Given the description of an element on the screen output the (x, y) to click on. 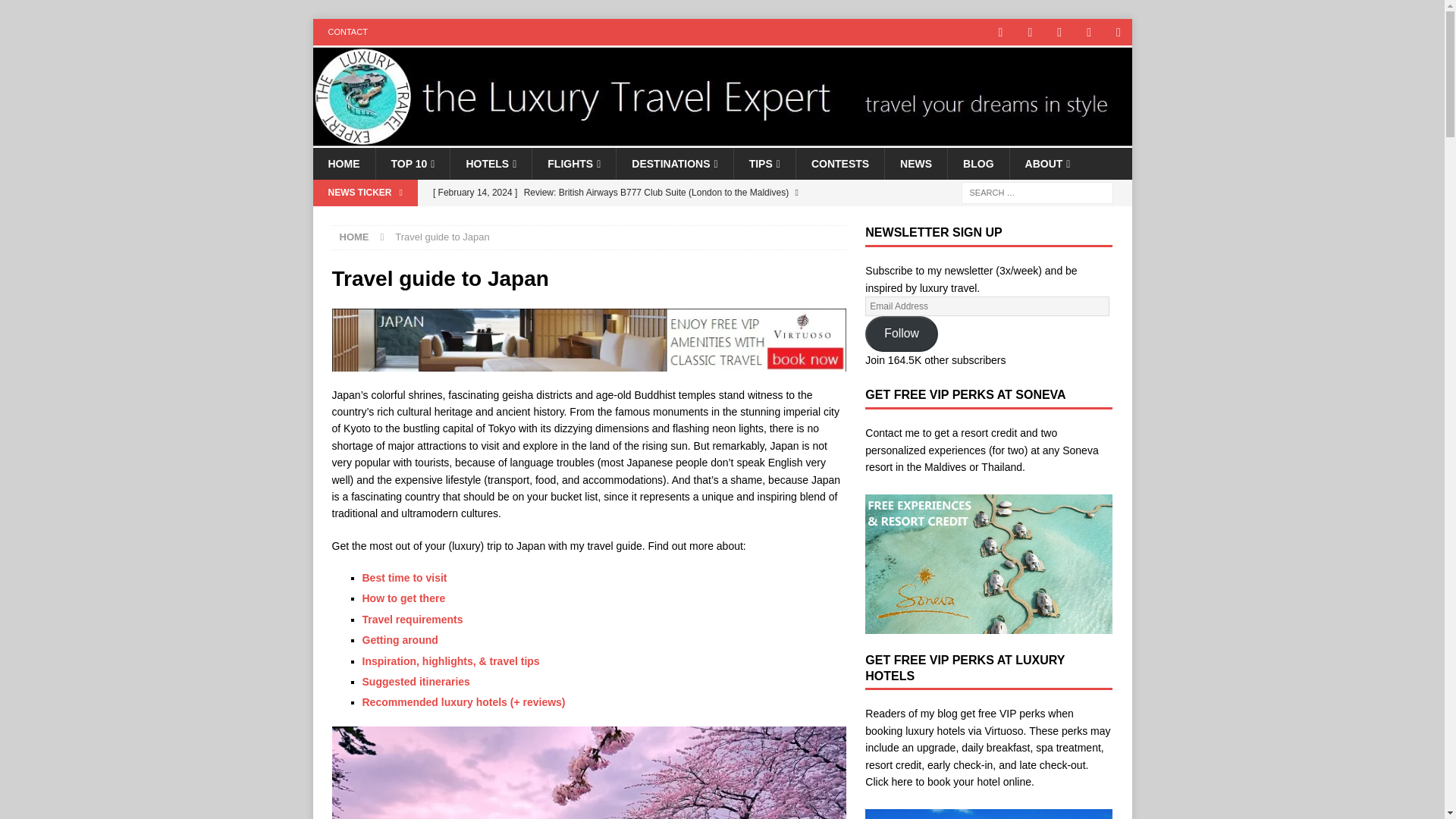
CONTACT (347, 31)
the Luxury Travel Expert (722, 139)
